Given the description of an element on the screen output the (x, y) to click on. 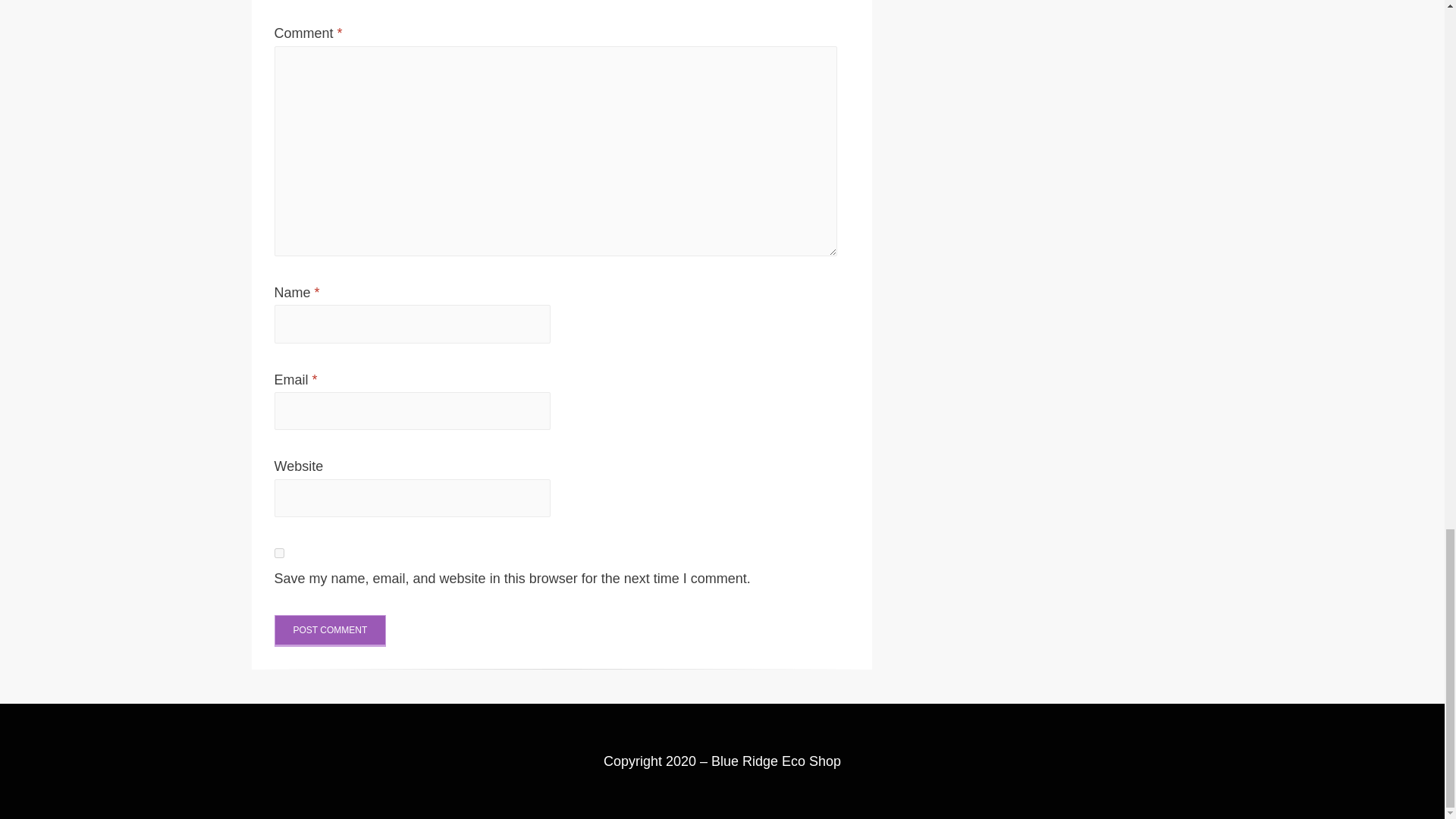
Post Comment (331, 631)
yes (279, 552)
Post Comment (331, 631)
